Given the description of an element on the screen output the (x, y) to click on. 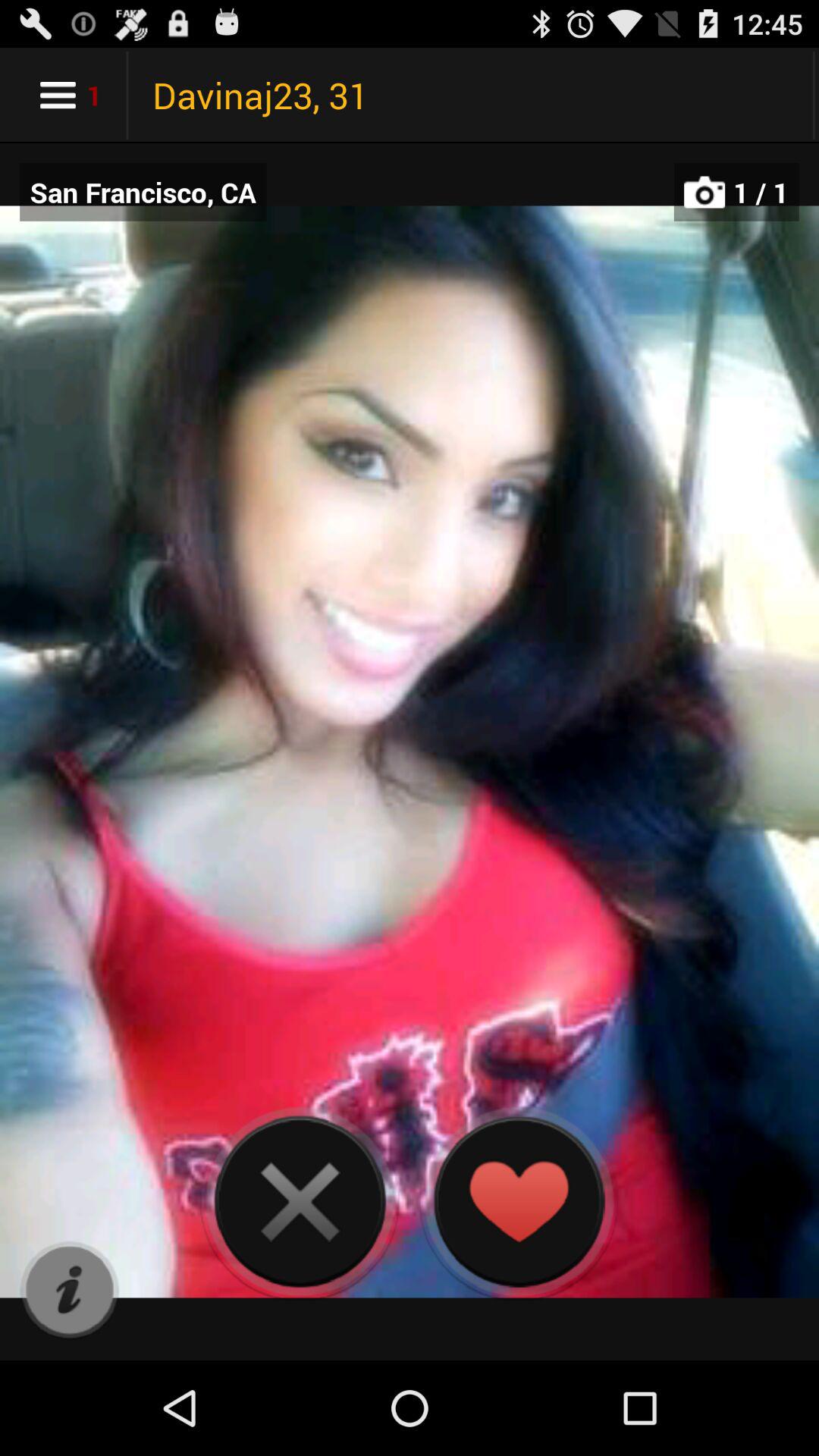
view informatin (69, 1290)
